Given the description of an element on the screen output the (x, y) to click on. 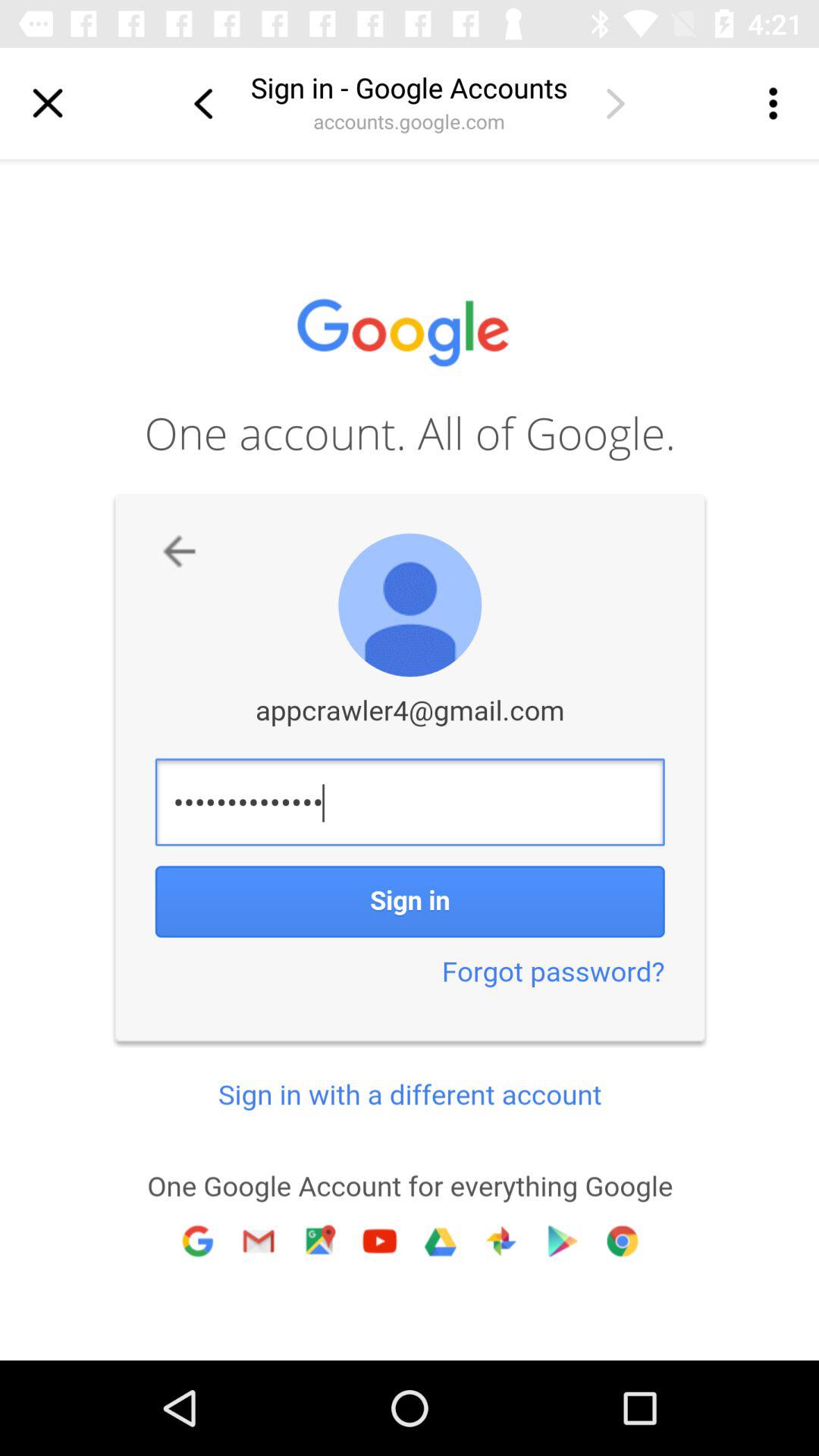
click options (771, 103)
